Given the description of an element on the screen output the (x, y) to click on. 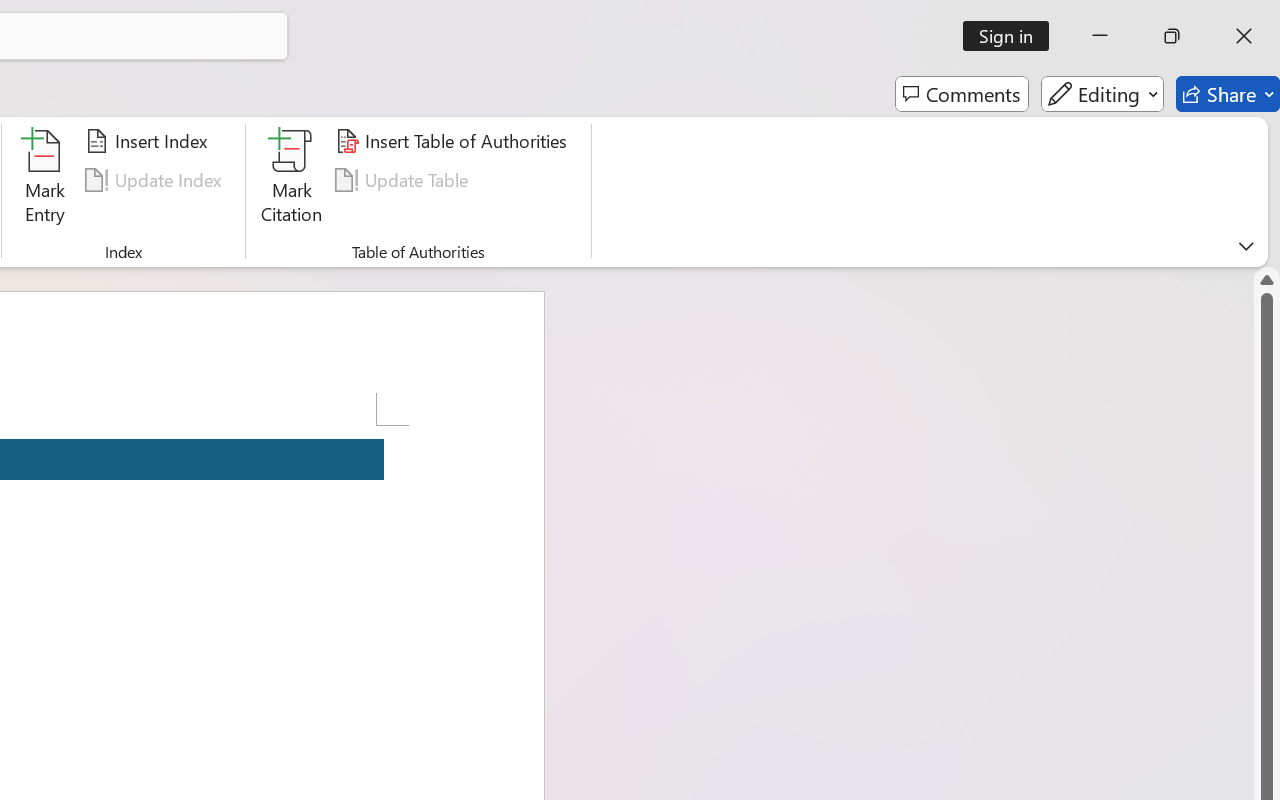
Sign in (1012, 35)
Line up (1267, 279)
Insert Index... (149, 141)
Update Index (156, 179)
Update Table (404, 179)
Insert Table of Authorities... (453, 141)
Mark Citation... (292, 179)
Mark Entry... (44, 179)
Editing (1101, 94)
